Given the description of an element on the screen output the (x, y) to click on. 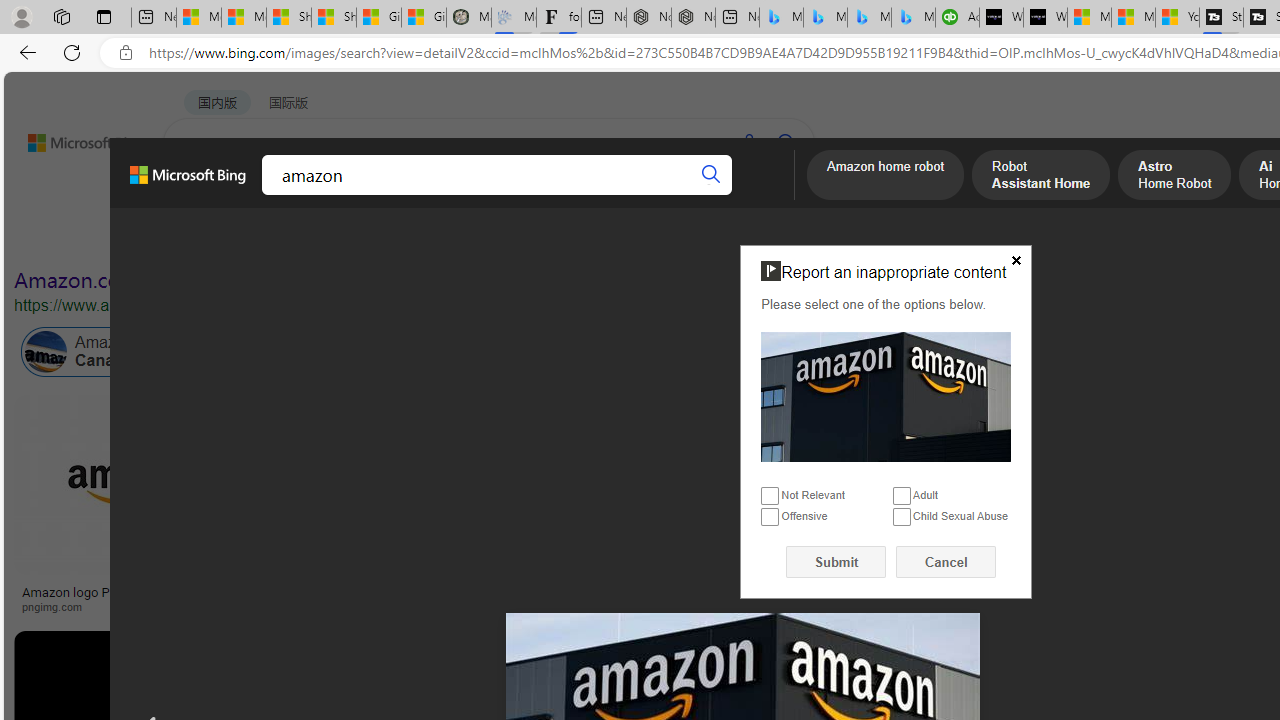
Image result for amazon (982, 485)
pngimg.com (133, 606)
Alexa Smart Home Devices (1183, 584)
Layout (443, 237)
Astro Home Robot (1174, 177)
Amazon Echo Dot 4th Gen (1183, 465)
Cancel (946, 561)
Amazon Cloud (564, 351)
IMAGES (274, 196)
Color (305, 237)
Type (373, 237)
Amazon Logo Png Hd Wallpaper | Images and Photos finder (982, 598)
